Given the description of an element on the screen output the (x, y) to click on. 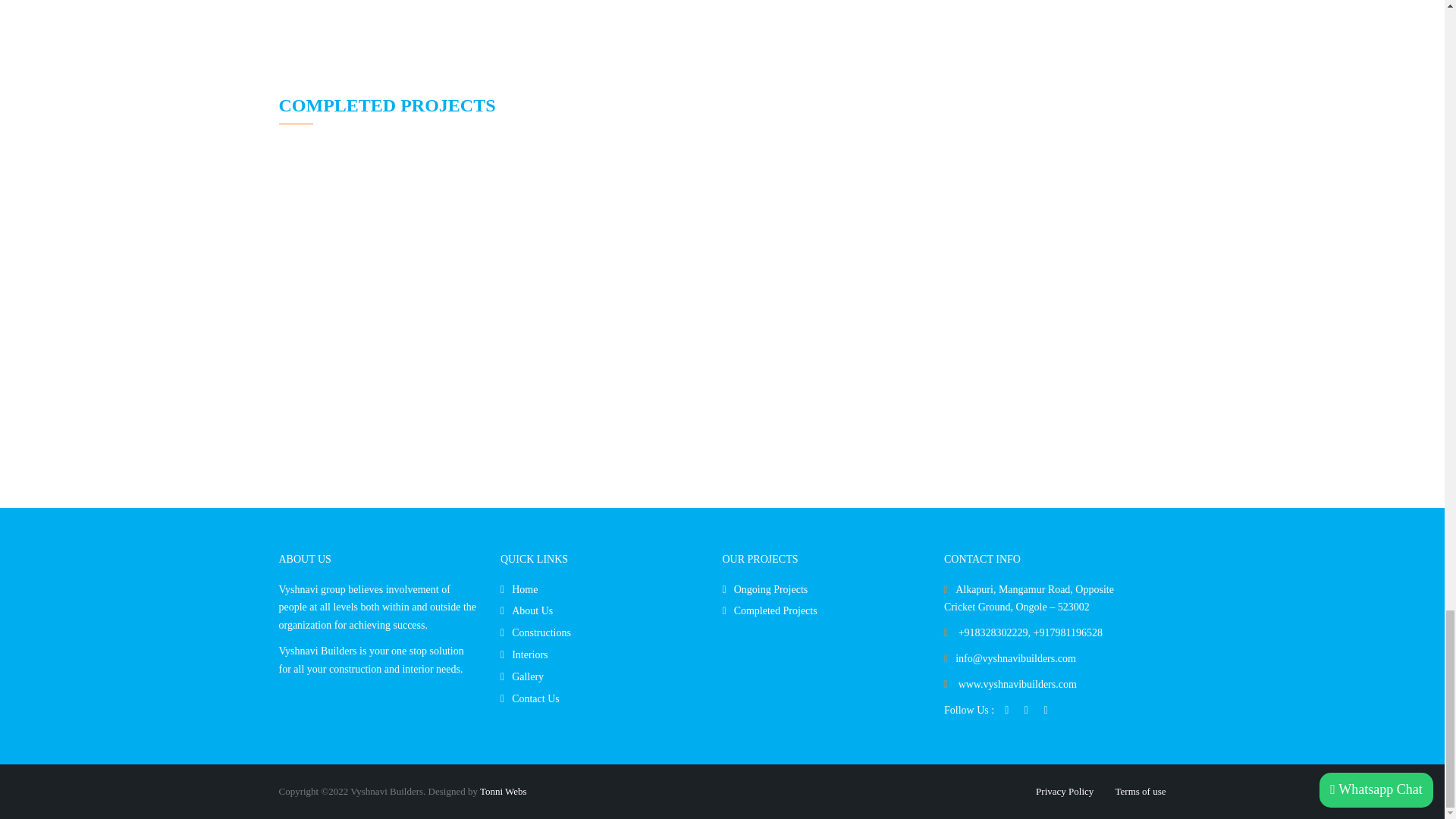
Low Cost Web Design Company in India (503, 790)
